Given the description of an element on the screen output the (x, y) to click on. 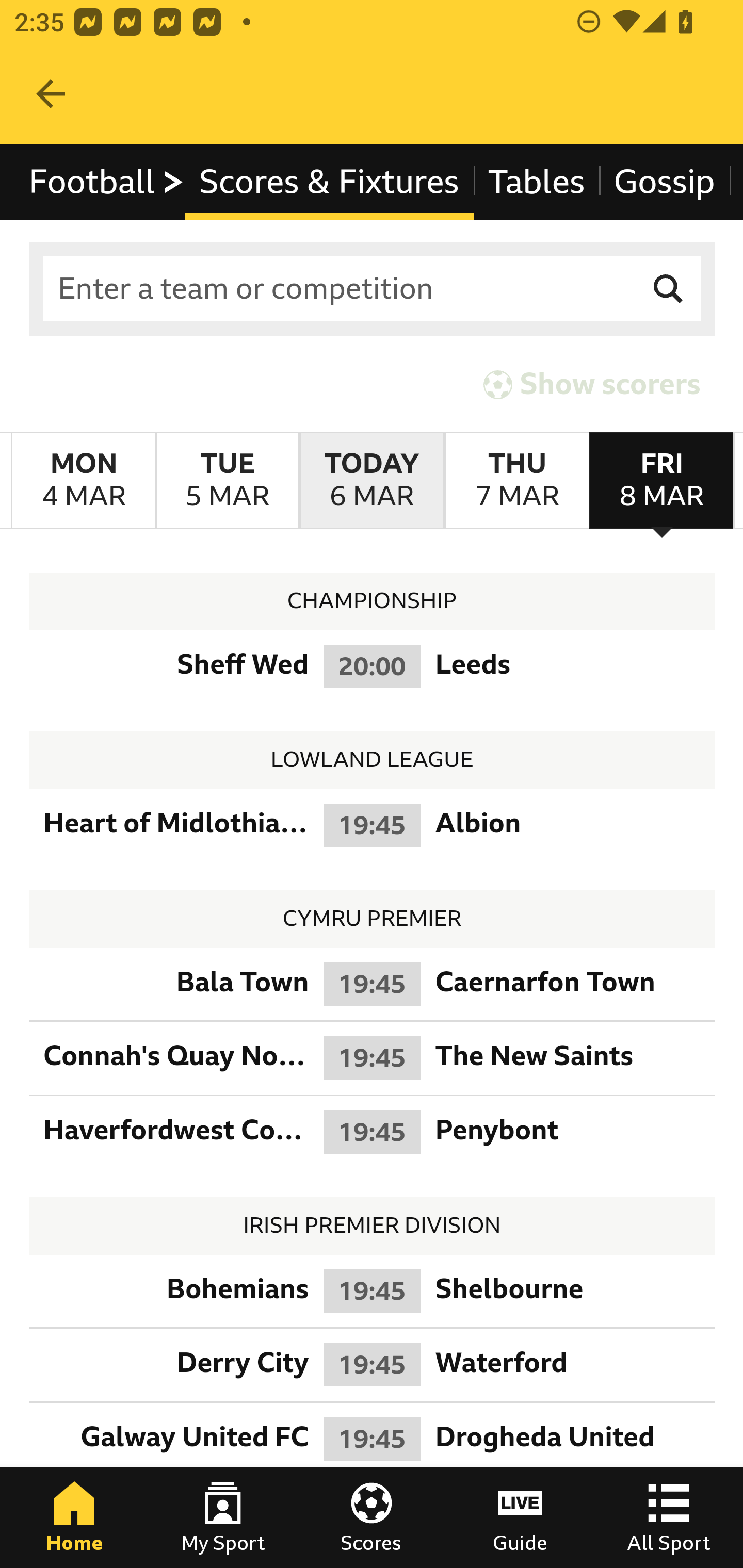
Navigate up (50, 93)
Football  (106, 181)
Scores & Fixtures (329, 181)
Tables (536, 181)
Gossip (664, 181)
Search (669, 289)
Show scorers (591, 383)
MondayMarch 4th Monday March 4th (83, 480)
TuesdayMarch 5th Tuesday March 5th (227, 480)
TodayMarch 6th Today March 6th (371, 480)
ThursdayMarch 7th Thursday March 7th (516, 480)
FridayMarch 8th, Selected Friday March 8th (661, 480)
My Sport (222, 1517)
Scores (371, 1517)
Guide (519, 1517)
All Sport (668, 1517)
